Given the description of an element on the screen output the (x, y) to click on. 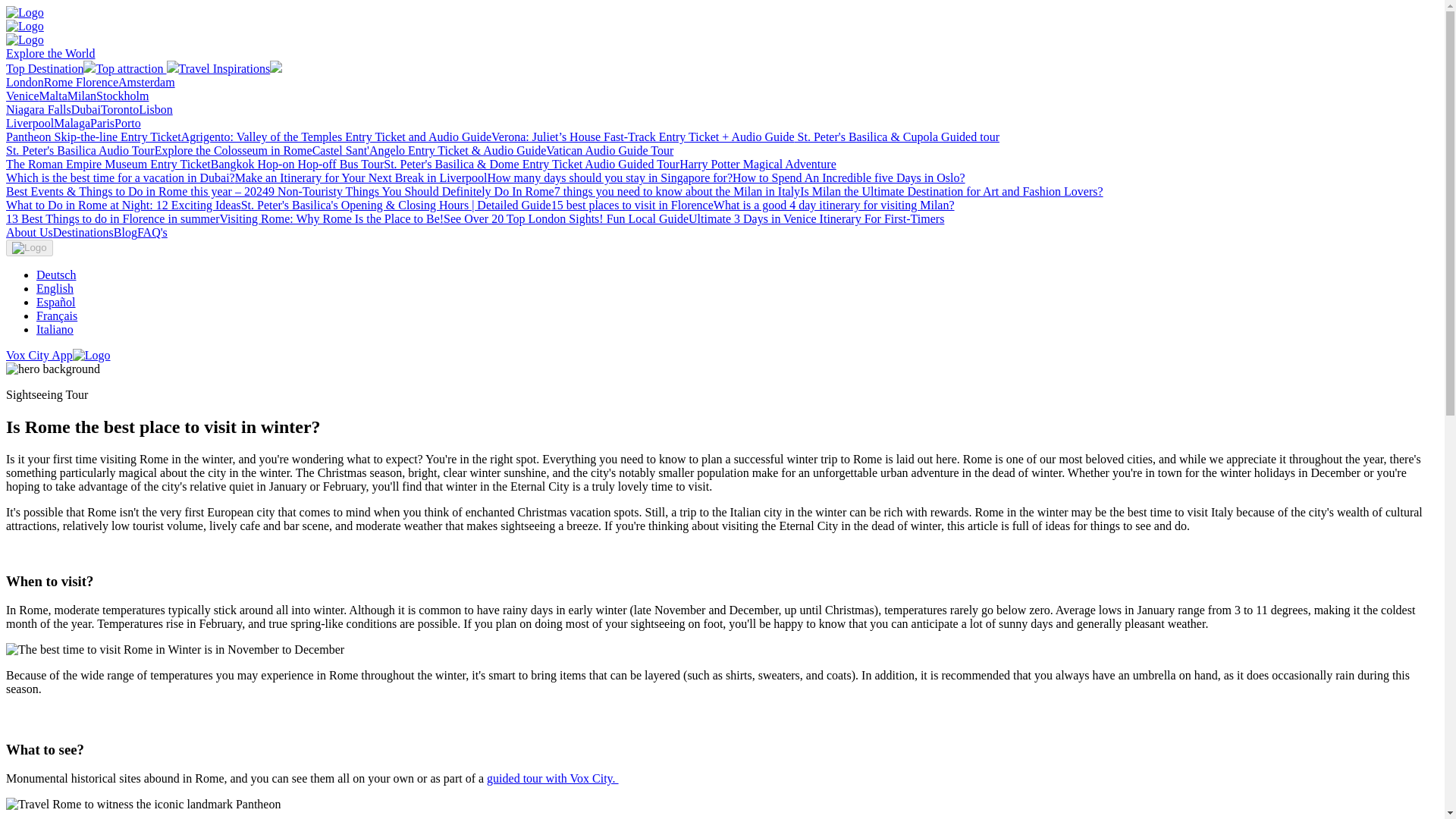
Paris (102, 123)
Pantheon Skip-the-line Entry Ticket (92, 136)
Vatican Audio Guide Tour (609, 150)
Dubai (85, 109)
Amsterdam (145, 82)
Milan (81, 95)
Stockholm (122, 95)
Malaga (71, 123)
Harry Potter Magical Adventure (757, 164)
Make an Itinerary for Your Next Break in Liverpool (360, 177)
